Given the description of an element on the screen output the (x, y) to click on. 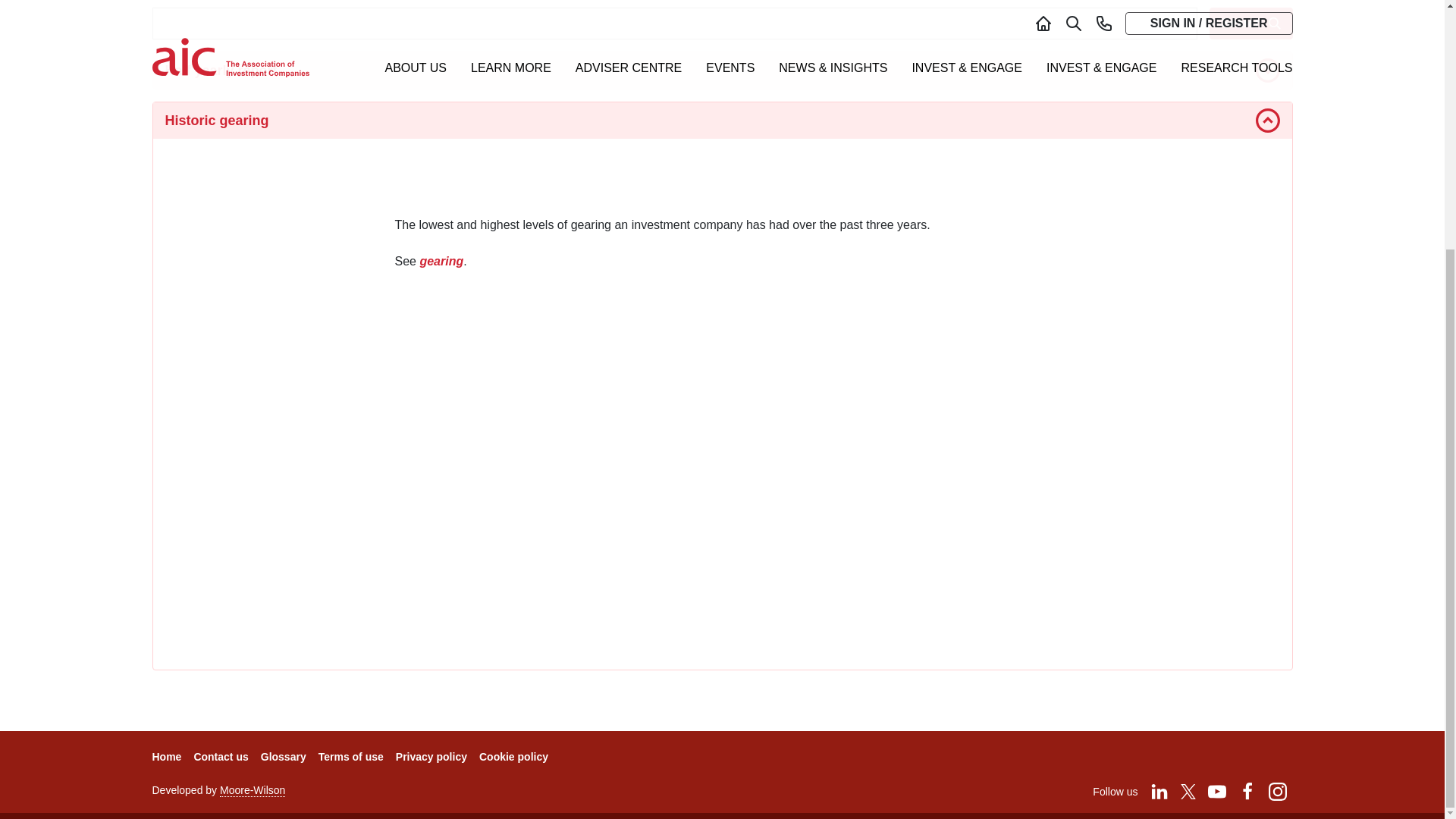
Search keywords (673, 23)
How do we explain gearing? (721, 495)
Glossary term: Gearing (441, 260)
